Given the description of an element on the screen output the (x, y) to click on. 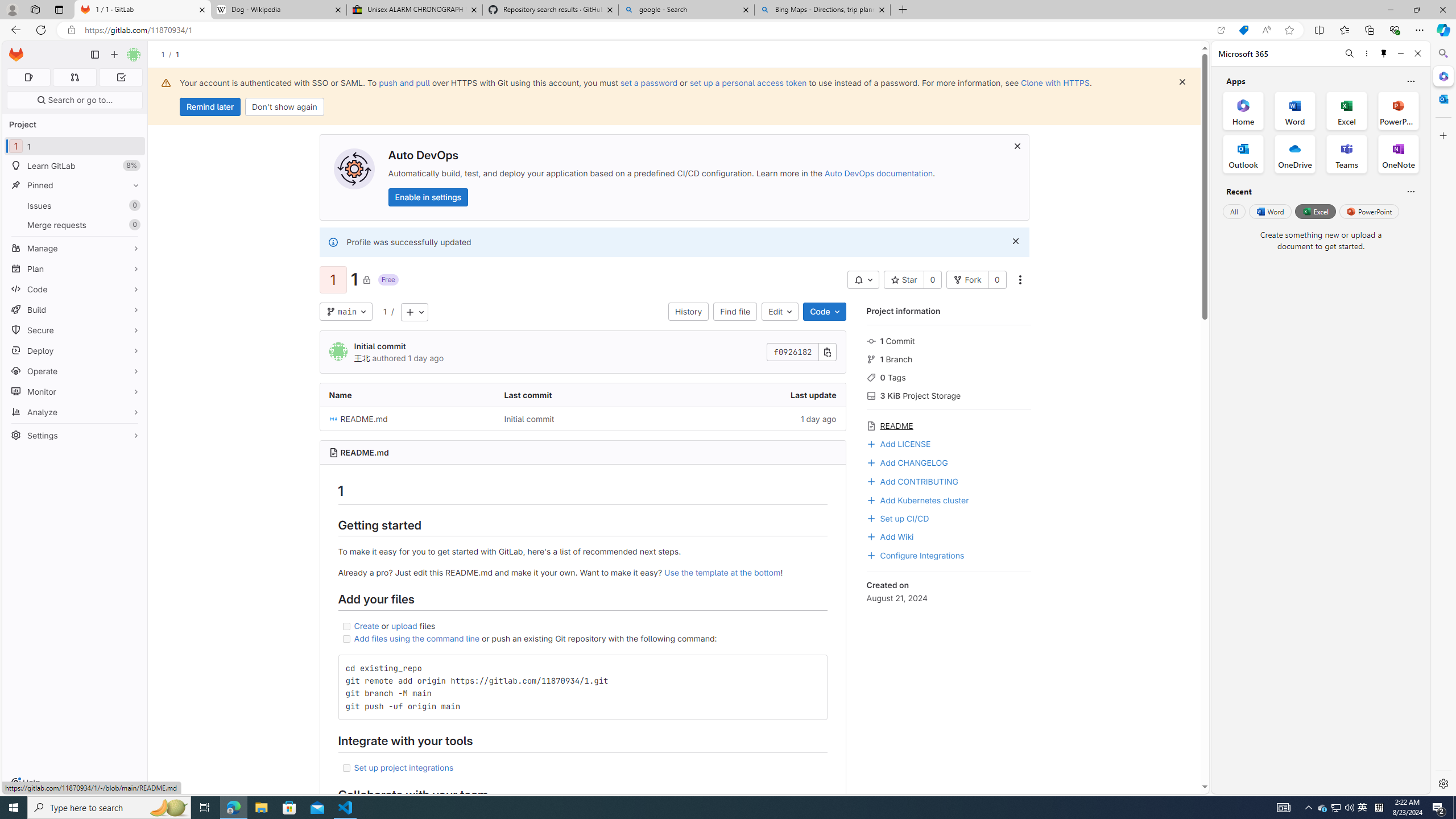
Initial commit (583, 418)
README.md (407, 418)
Name (407, 395)
History (688, 311)
1 (384, 311)
Add Wiki (890, 535)
Assigned issues 0 (28, 76)
OneDrive Office App (1295, 154)
Class: s16 position-relative file-icon (333, 419)
